Given the description of an element on the screen output the (x, y) to click on. 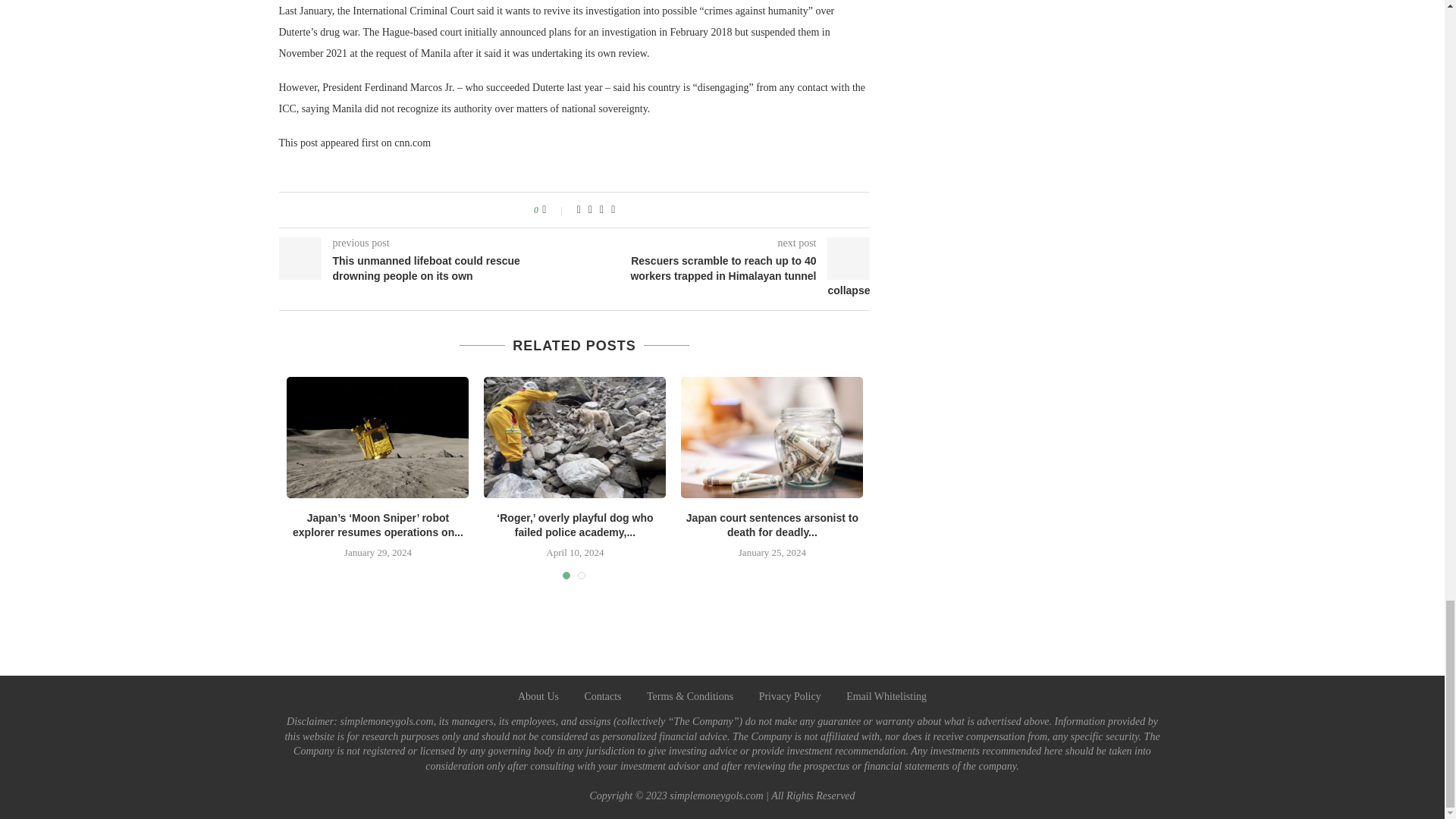
Like (553, 209)
Japan court sentences arsonist to death for deadly... (772, 524)
